Given the description of an element on the screen output the (x, y) to click on. 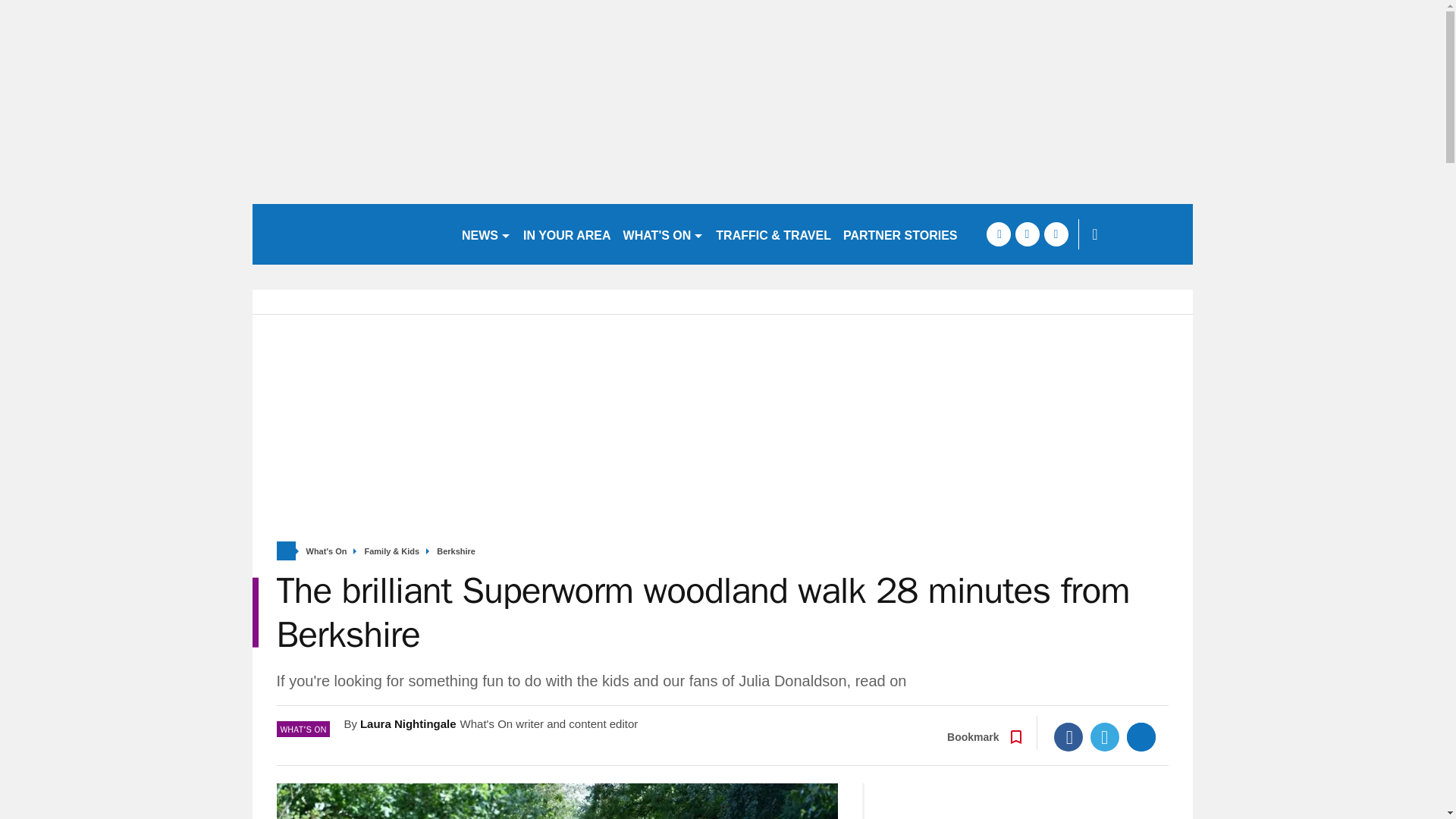
NEWS (485, 233)
PARTNER STORIES (900, 233)
WHAT'S ON (663, 233)
facebook (997, 233)
Twitter (1104, 736)
Facebook (1068, 736)
IN YOUR AREA (566, 233)
instagram (1055, 233)
getreading (349, 233)
twitter (1026, 233)
